Given the description of an element on the screen output the (x, y) to click on. 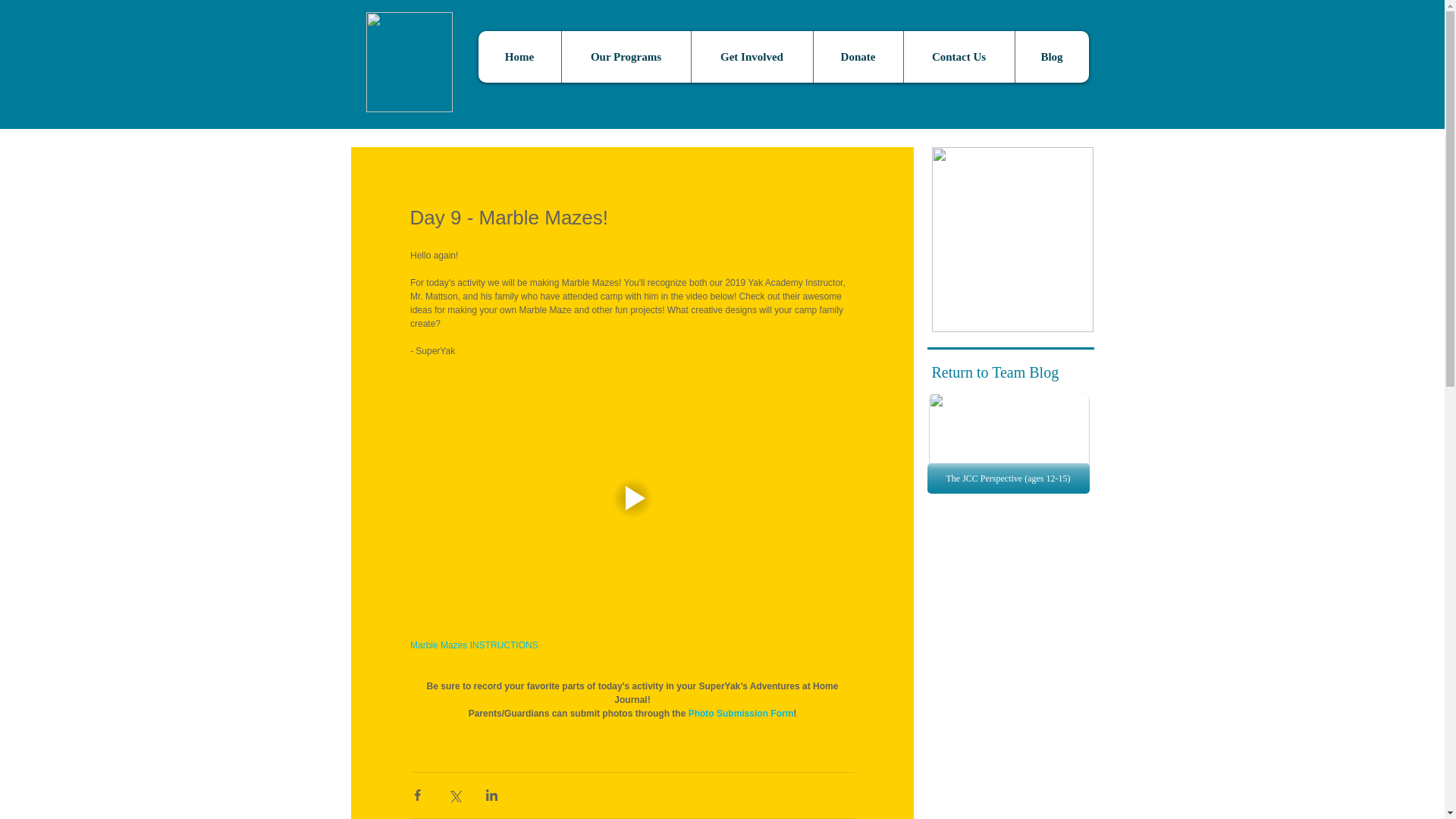
Photo Submission Form (740, 713)
Our Programs (625, 56)
Get Involved (751, 56)
Home (518, 56)
Contact Us (957, 56)
Marble Mazes INSTRUCTIONS (473, 644)
Donate (857, 56)
